Given the description of an element on the screen output the (x, y) to click on. 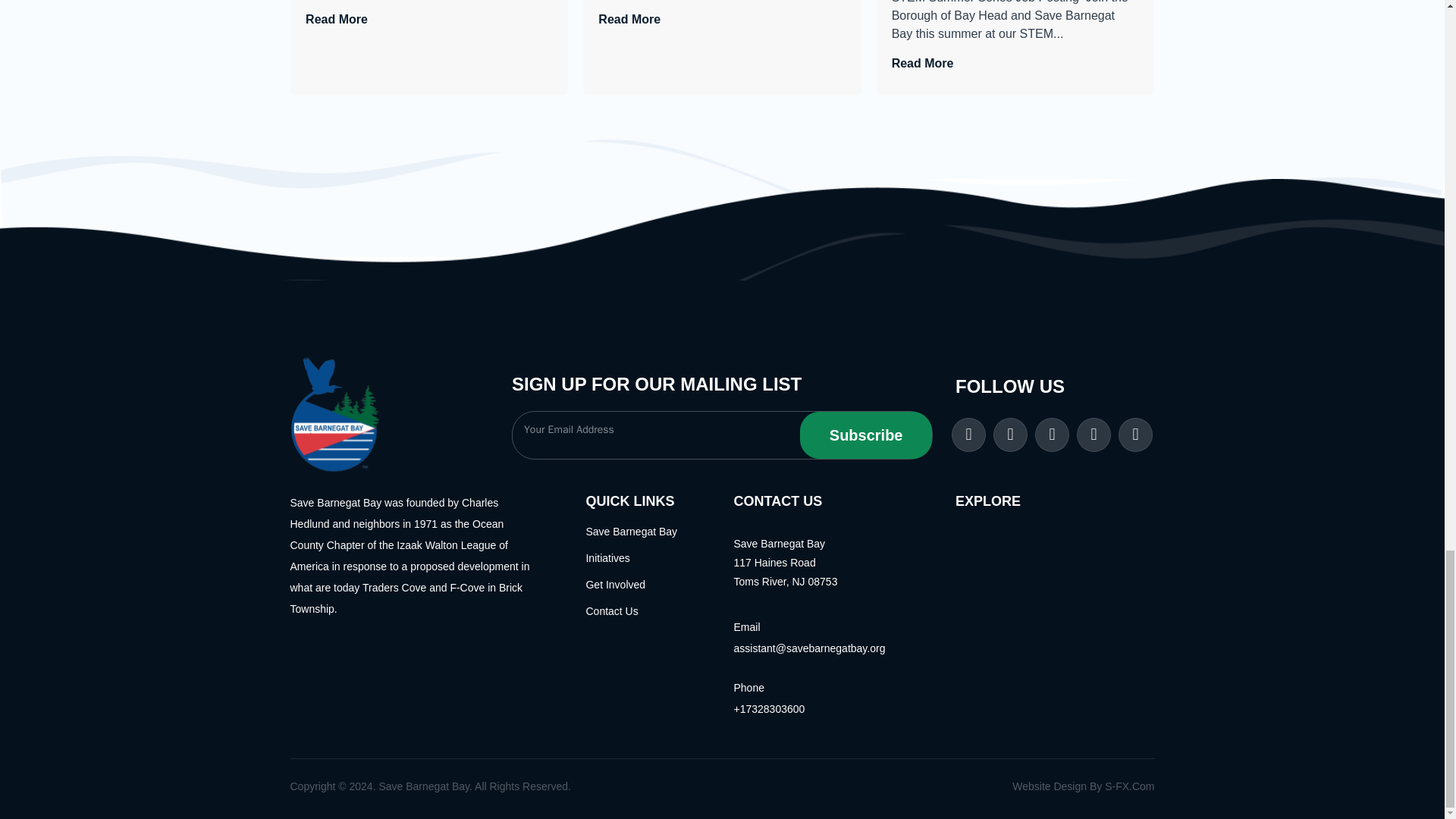
Read More (922, 62)
Read More (629, 19)
Read More (336, 19)
Subscribe (865, 434)
